Given the description of an element on the screen output the (x, y) to click on. 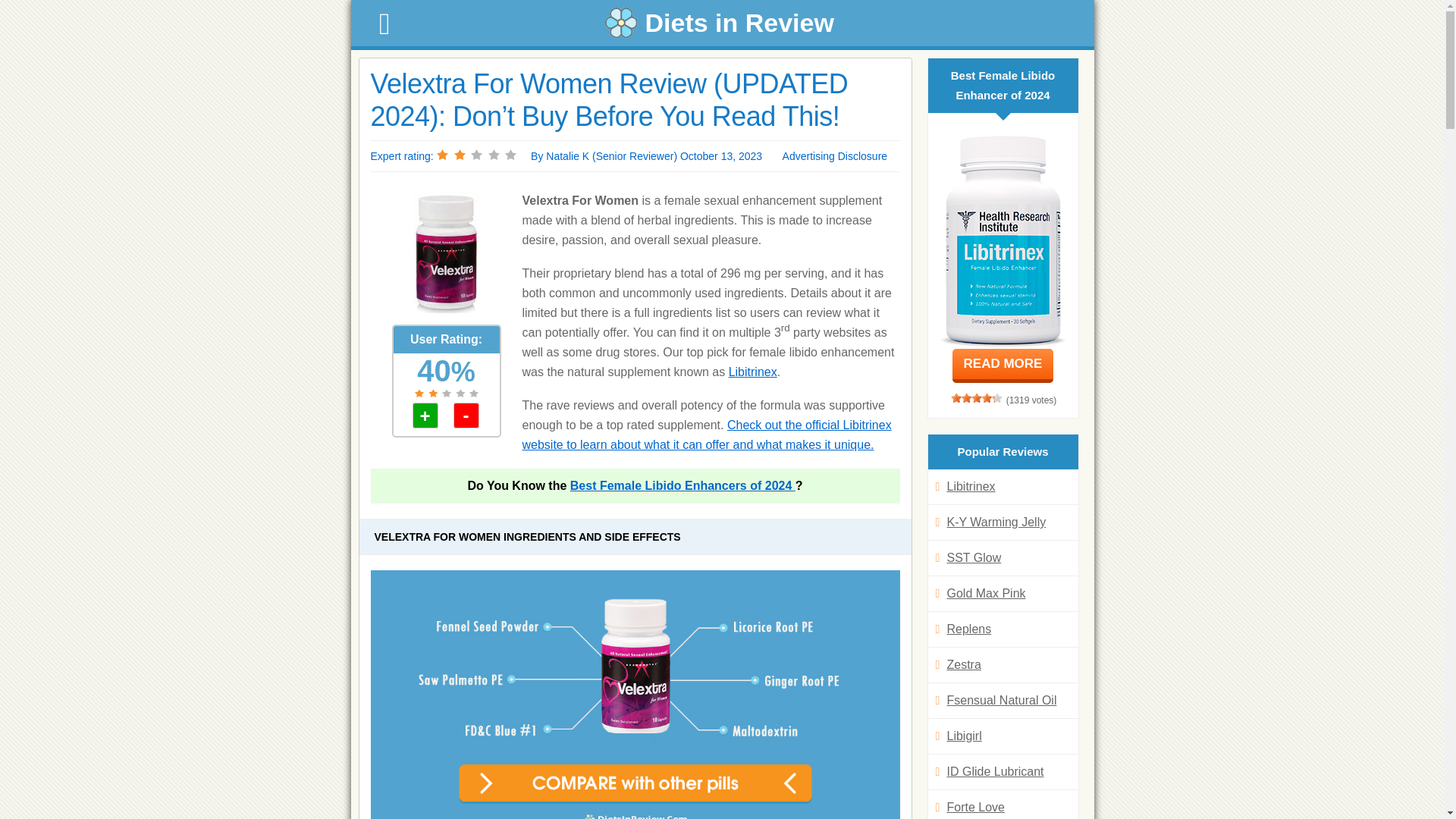
Best Female Libido Enhancers of 2024 (682, 485)
- (465, 415)
Advertising Disclosure (835, 155)
Diets in Review Blog (722, 22)
Diets in Review (722, 22)
Libitrinex (753, 371)
